Given the description of an element on the screen output the (x, y) to click on. 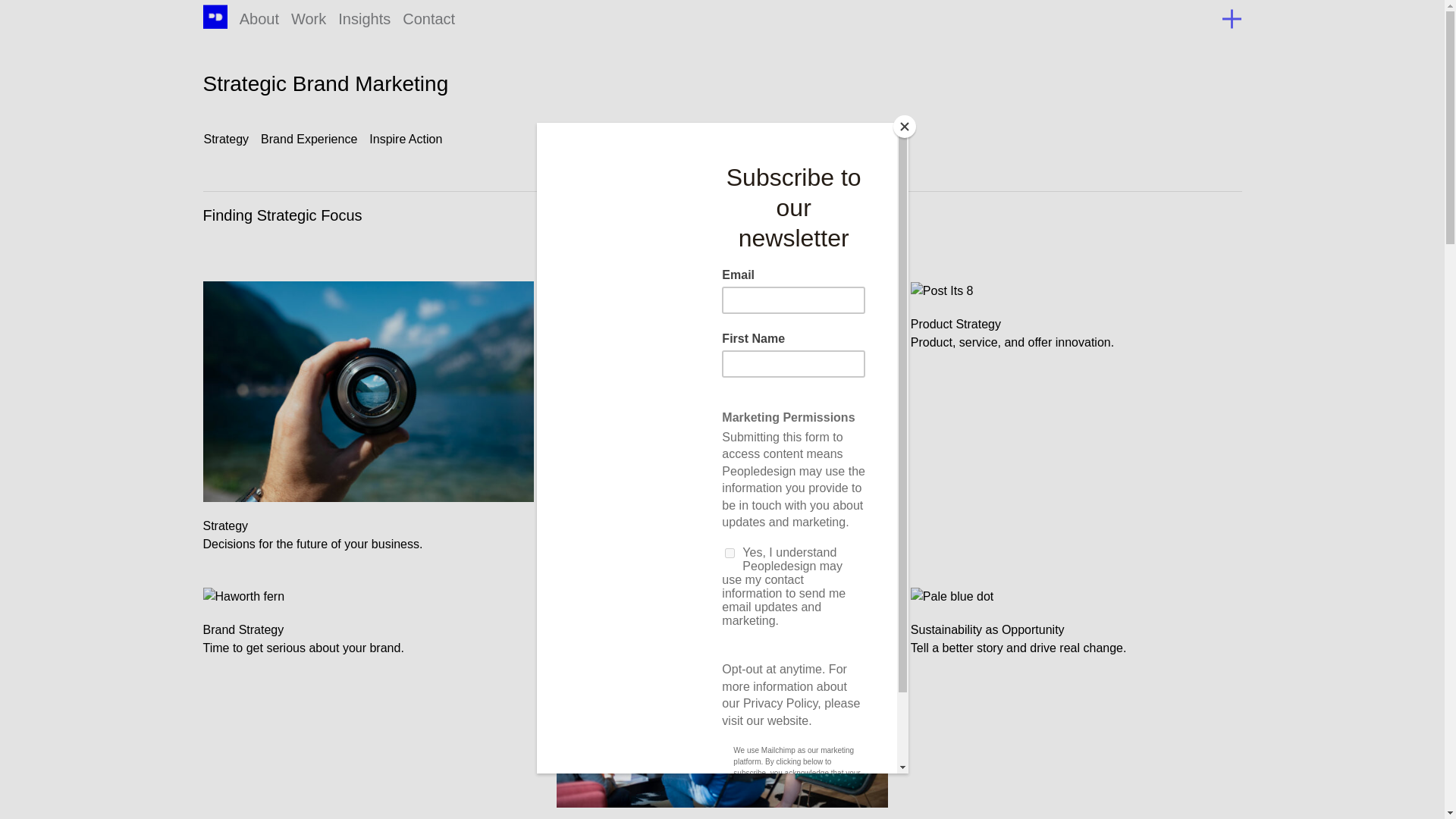
Strategy (1076, 323)
About (722, 424)
Brand Experience (225, 139)
Insights (258, 18)
Work (308, 139)
Inspire Action (368, 629)
Contact (363, 18)
